Given the description of an element on the screen output the (x, y) to click on. 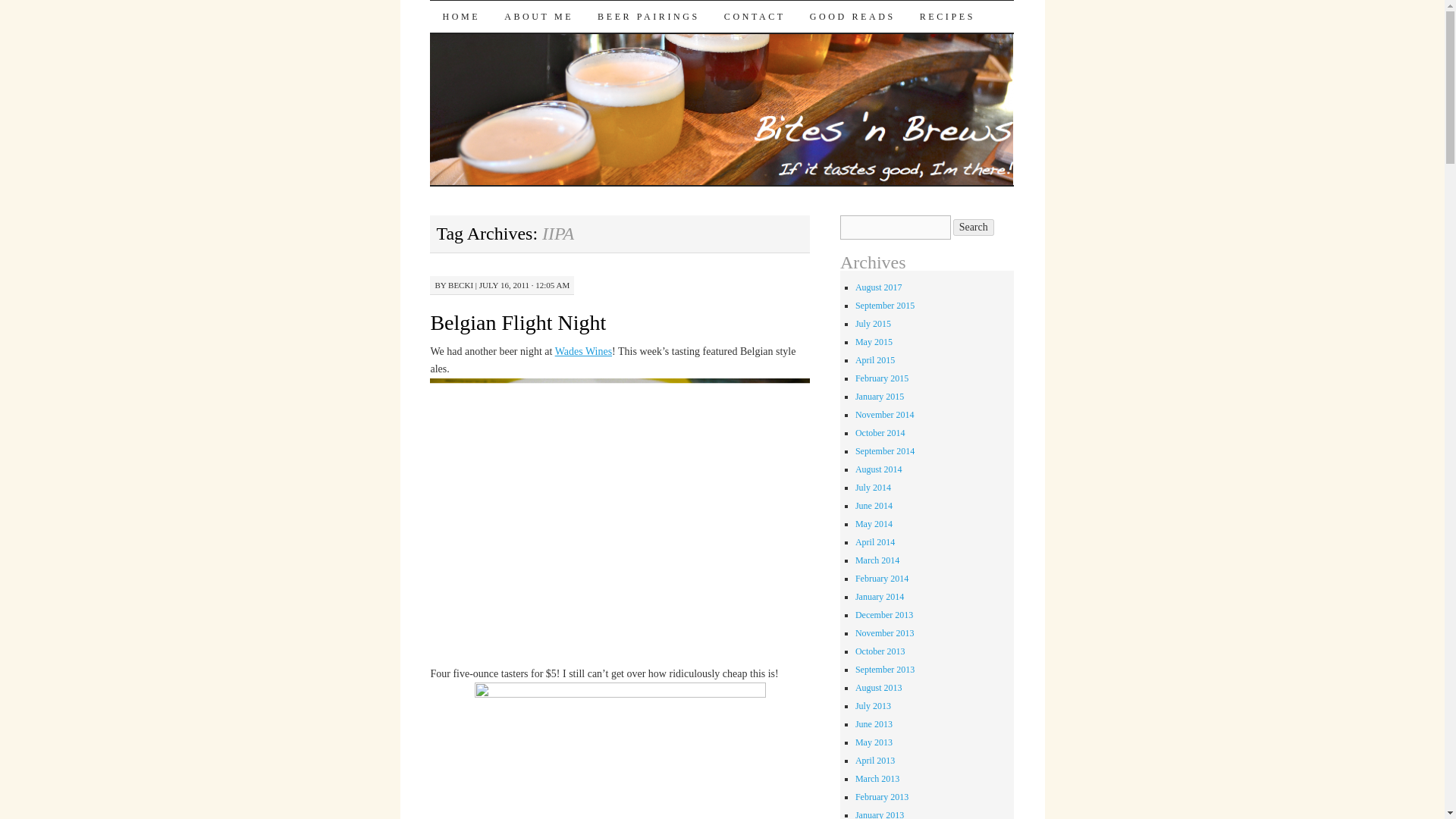
View all posts by Becki (460, 284)
AM1 (619, 750)
ABOUT ME (538, 16)
CONTACT (754, 16)
Wades Wines (582, 351)
Bites 'n Brews (521, 26)
RECIPES (947, 16)
Belgian Flight Night (517, 322)
Search (973, 227)
BEER PAIRINGS (648, 16)
August 2017 (879, 286)
Bites 'n Brews (521, 26)
HOME (460, 16)
GOOD READS (852, 16)
BECKI (460, 284)
